Given the description of an element on the screen output the (x, y) to click on. 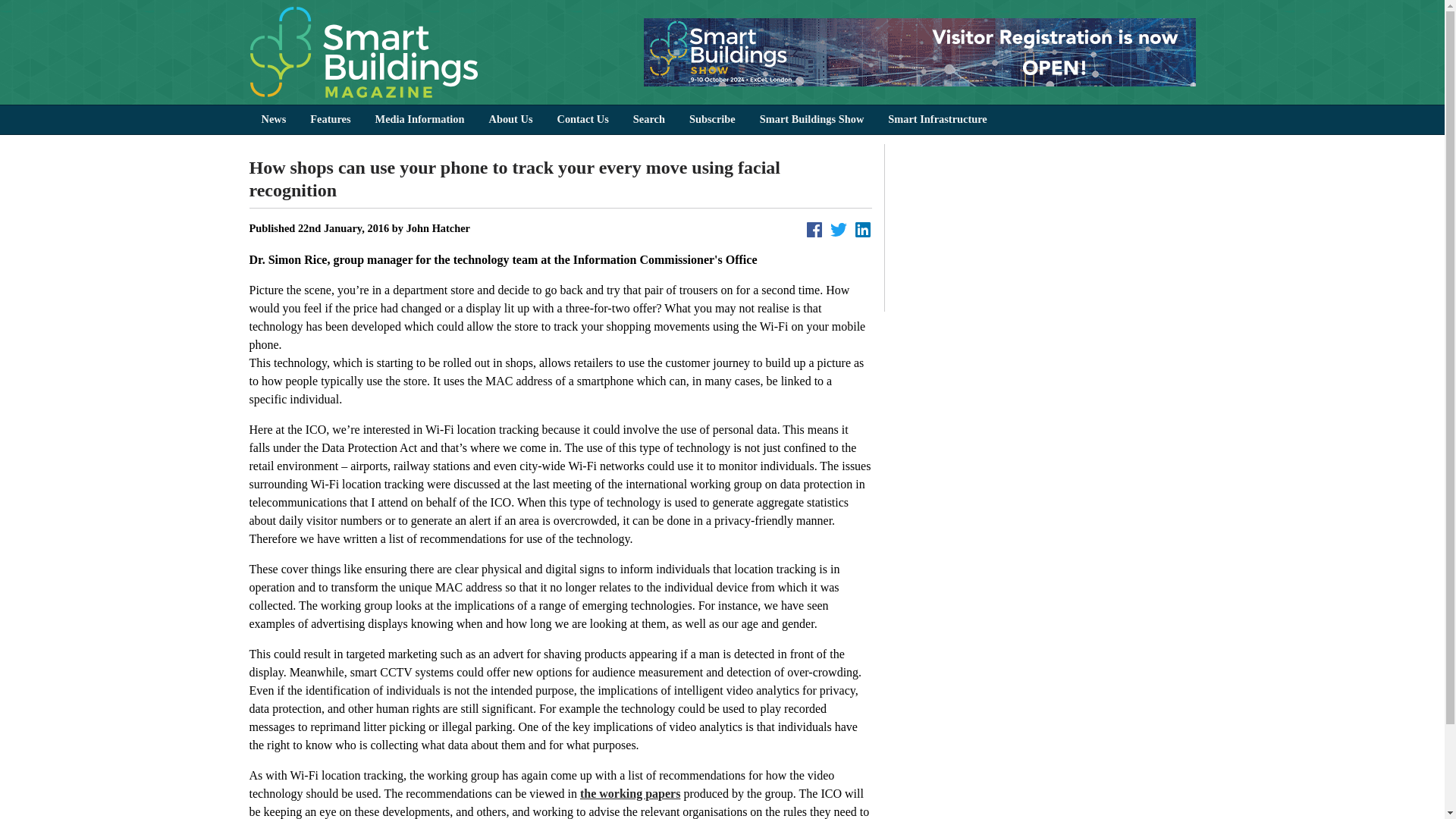
Search (649, 119)
Share on Facebook (814, 229)
Smart Buildings Show 2022 Highlights (1045, 228)
Features (330, 119)
Subscribe (712, 119)
Share on Twitter (838, 229)
Share on LinkedIn (862, 229)
Contact Us (582, 119)
News (273, 119)
About Us (510, 119)
